Given the description of an element on the screen output the (x, y) to click on. 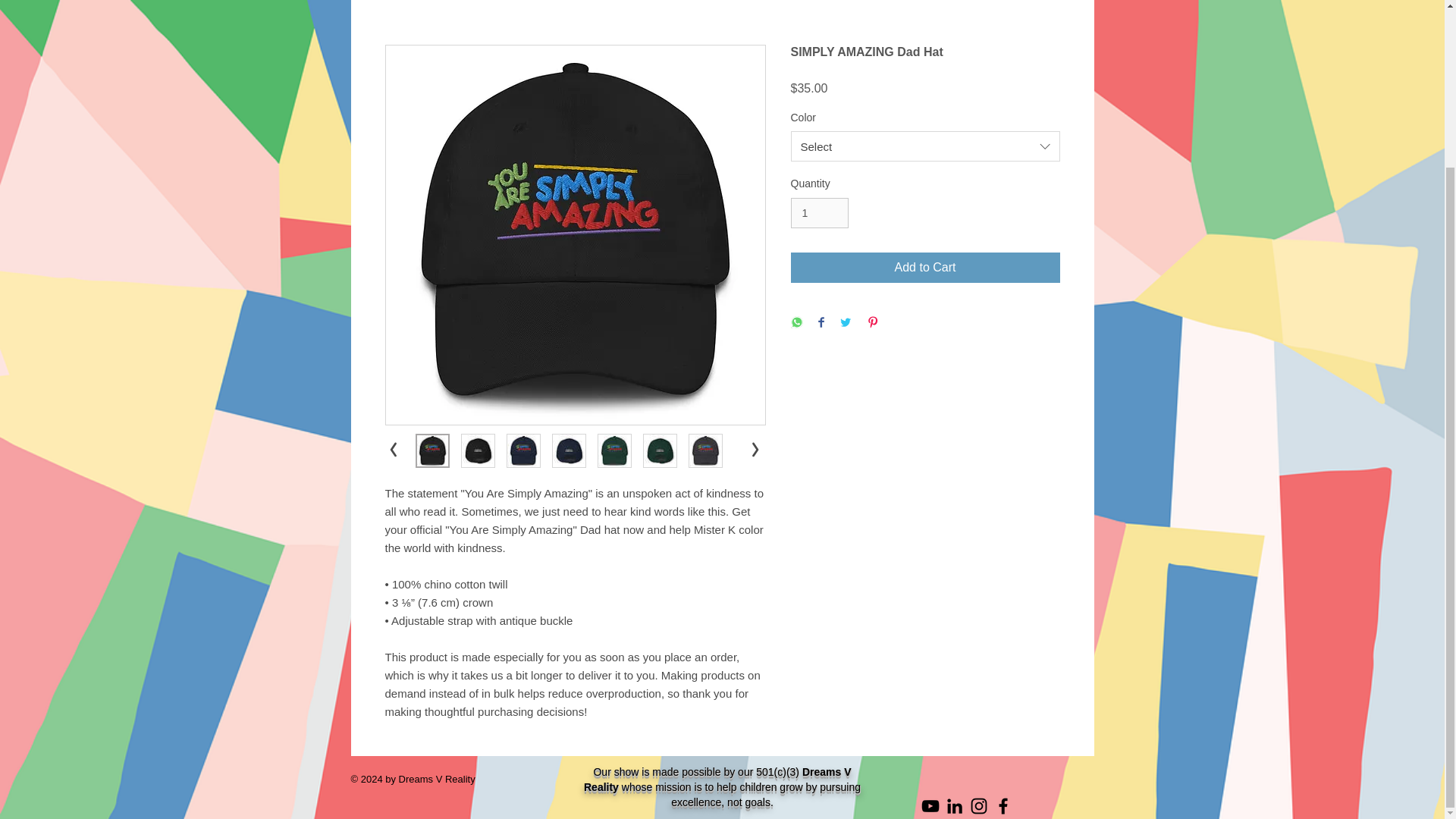
Select (924, 146)
1 (818, 213)
Add to Cart (924, 267)
